Given the description of an element on the screen output the (x, y) to click on. 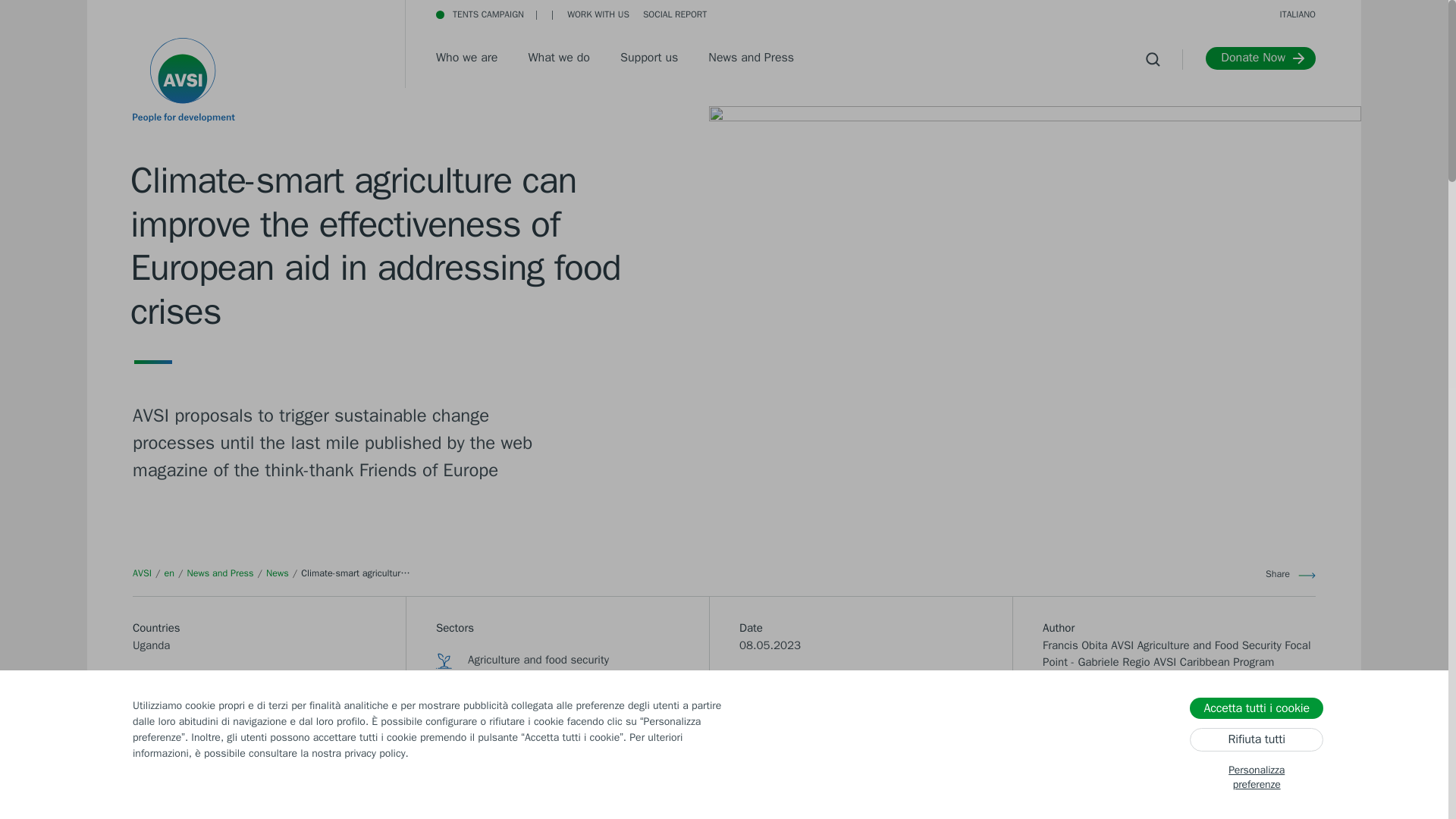
SOCIAL REPORT (954, 14)
News (277, 573)
What we do (558, 58)
Donate Now (1260, 57)
Support us (649, 58)
TENTS CAMPAIGN (479, 14)
Who we are (466, 58)
News and Press (219, 573)
ITALIANO (1297, 14)
News and Press (750, 58)
WORK WITH US (597, 14)
AVSI (141, 573)
